Given the description of an element on the screen output the (x, y) to click on. 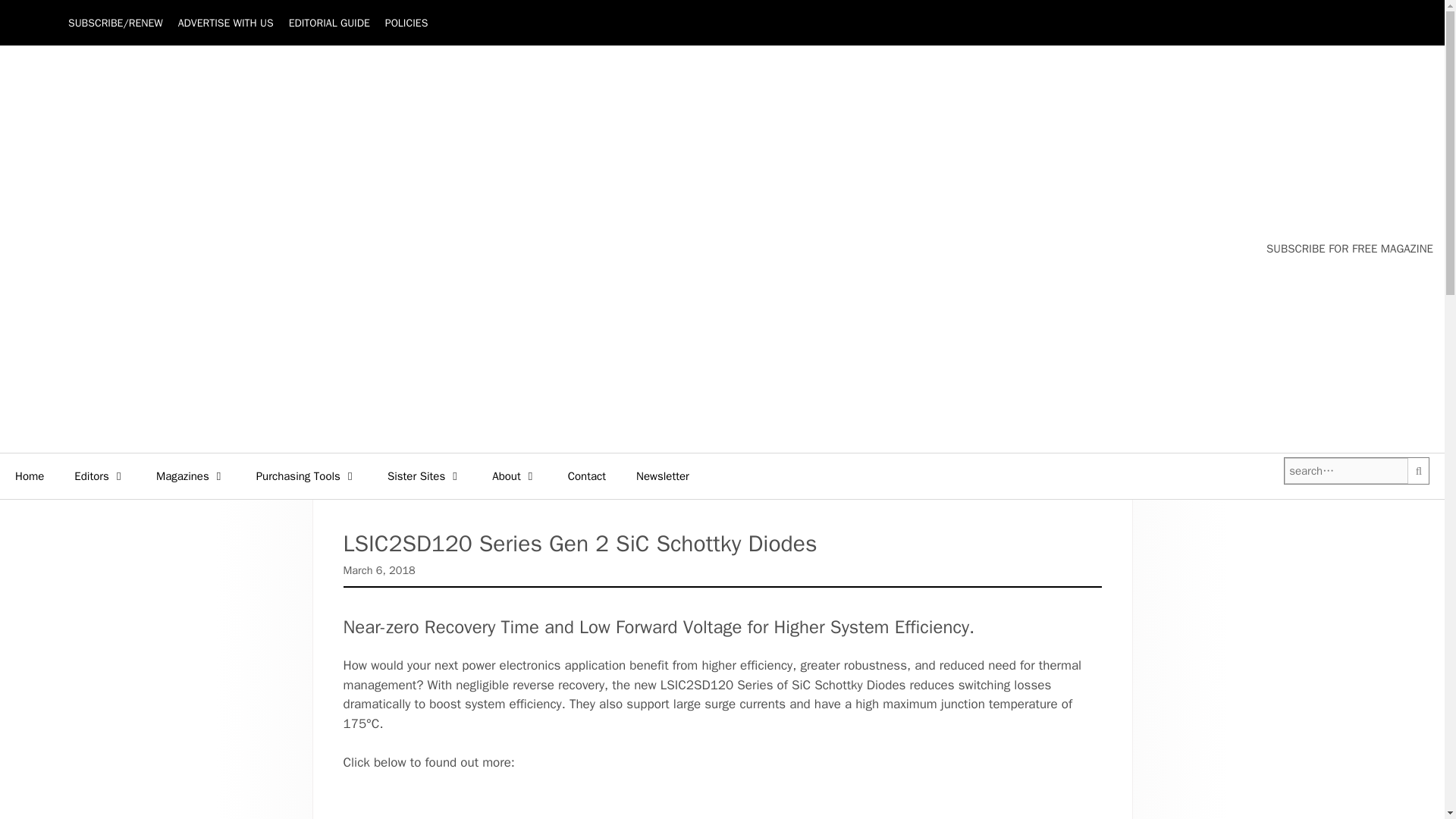
Home (29, 475)
Purchasing Tools (306, 475)
Editors (100, 475)
Sister Sites (424, 475)
Search for: (1345, 470)
Newsletter (662, 475)
Contact (587, 475)
ADVERTISE WITH US (225, 22)
About (514, 475)
POLICIES (406, 22)
